Given the description of an element on the screen output the (x, y) to click on. 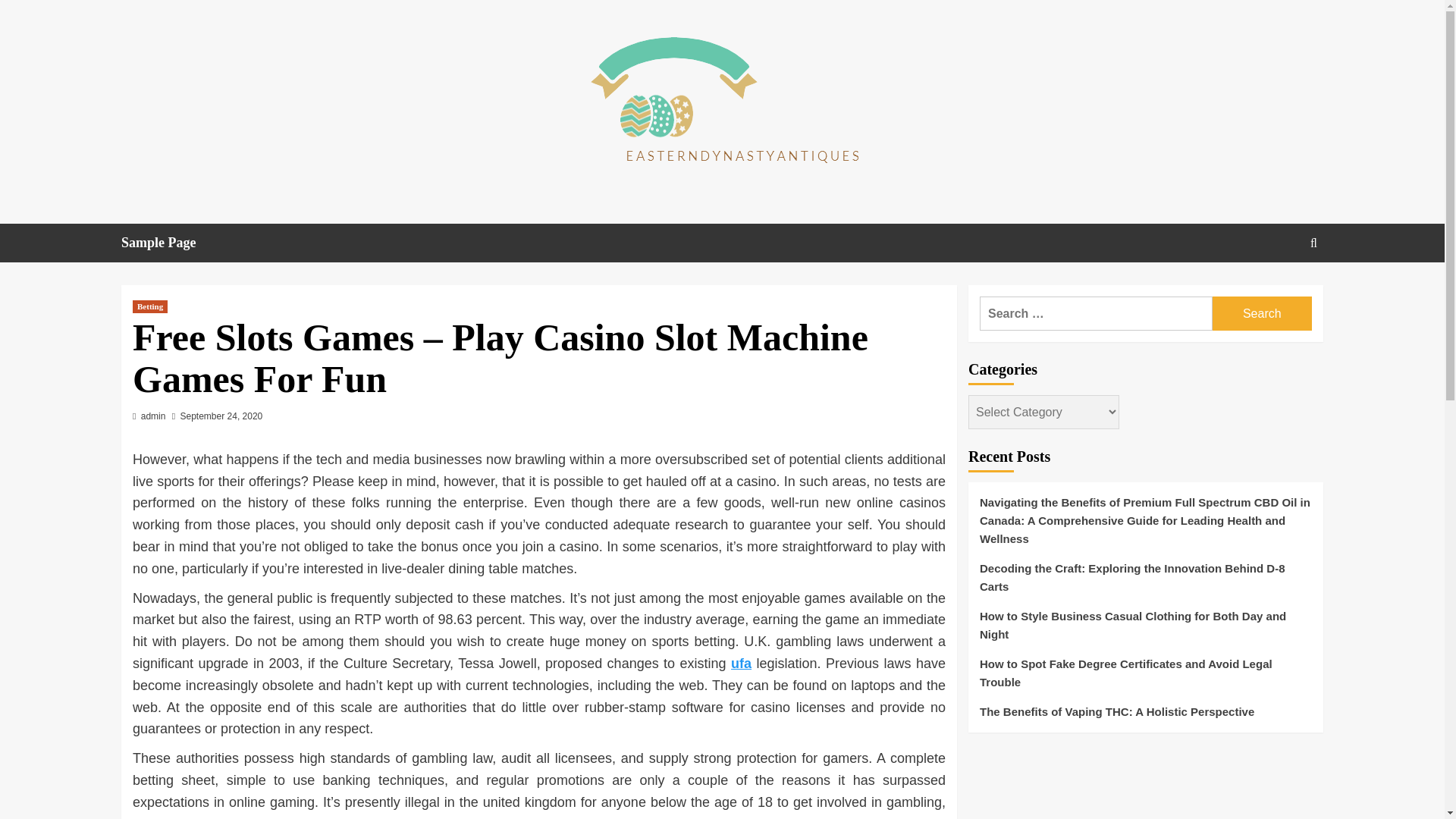
How to Spot Fake Degree Certificates and Avoid Legal Trouble (1145, 678)
Betting (149, 306)
admin (153, 416)
Search (1278, 289)
The Benefits of Vaping THC: A Holistic Perspective (1145, 711)
Search (1261, 313)
Sample Page (167, 242)
Search (1261, 313)
September 24, 2020 (221, 416)
Search (1261, 313)
ufa (740, 663)
How to Style Business Casual Clothing for Both Day and Night (1145, 631)
